Given the description of an element on the screen output the (x, y) to click on. 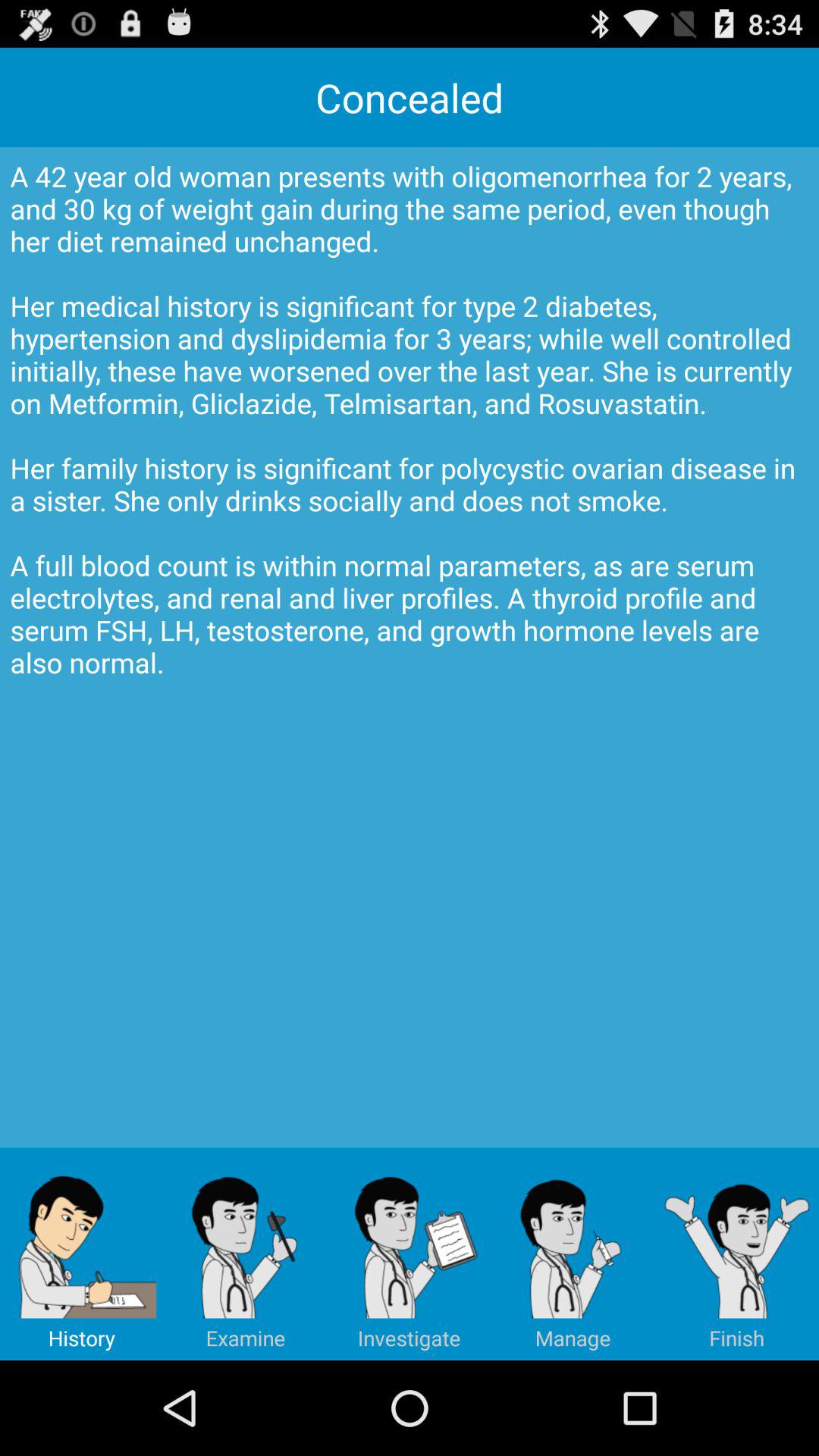
open app below a 42 year item (573, 1253)
